Given the description of an element on the screen output the (x, y) to click on. 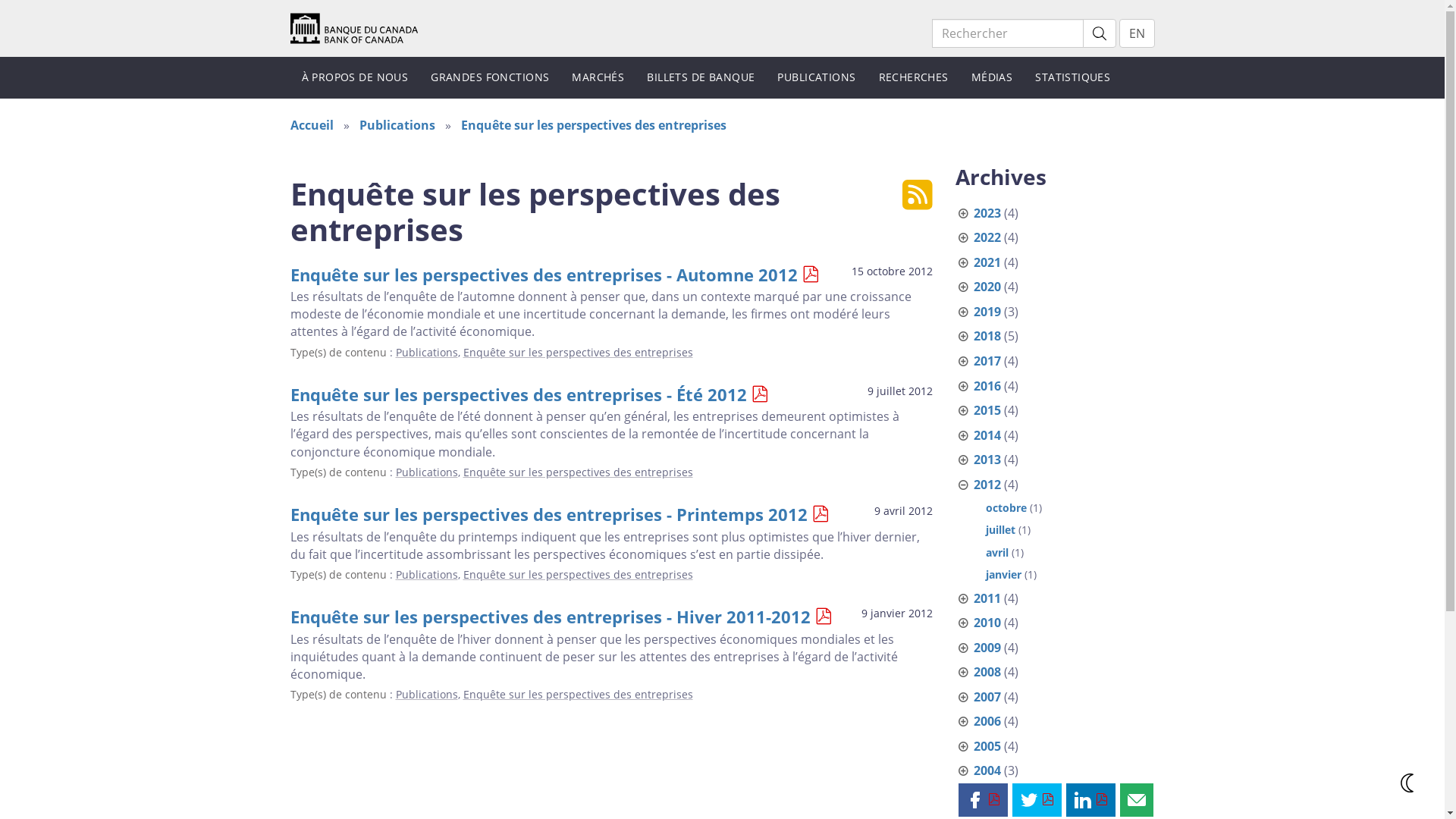
2004 Element type: text (987, 770)
Accueil Element type: text (310, 124)
2020 Element type: text (987, 286)
Partager cette page par courriel Element type: text (1135, 799)
juillet Element type: text (1000, 529)
2017 Element type: text (987, 360)
2018 Element type: text (987, 335)
Publications Element type: text (426, 352)
avril Element type: text (996, 552)
janvier Element type: text (1003, 574)
Rechercher Element type: text (1099, 32)
2006 Element type: text (987, 720)
2007 Element type: text (987, 696)
2009 Element type: text (987, 647)
2023 Element type: text (987, 212)
2011 Element type: text (987, 597)
Partager cette page sur Twitter Element type: text (1036, 799)
2014 Element type: text (987, 434)
2019 Element type: text (987, 311)
Publications Element type: text (397, 124)
octobre Element type: text (1005, 507)
2005 Element type: text (987, 745)
Publications Element type: text (426, 694)
2008 Element type: text (987, 671)
2013 Element type: text (987, 459)
2016 Element type: text (987, 385)
2012 Element type: text (987, 484)
PUBLICATIONS Element type: text (815, 77)
2021 Element type: text (987, 262)
EN Element type: text (1136, 32)
STATISTIQUES Element type: text (1072, 77)
2010 Element type: text (987, 622)
Publications Element type: text (426, 574)
GRANDES FONCTIONS Element type: text (489, 77)
Rechercher Element type: hover (1006, 32)
Accueil Element type: text (353, 26)
BILLETS DE BANQUE Element type: text (700, 77)
RECHERCHES Element type: text (913, 77)
Publications Element type: text (426, 471)
2015 Element type: text (987, 409)
Partager cette page sur Facebook Element type: text (982, 799)
Partager cette page sur LinkedIn Element type: text (1090, 799)
2022 Element type: text (987, 237)
